Given the description of an element on the screen output the (x, y) to click on. 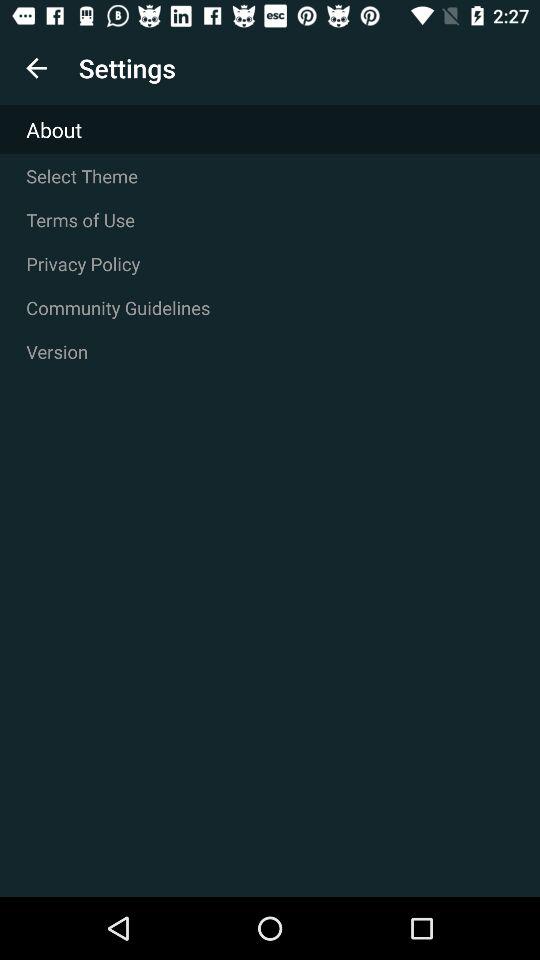
open the icon below the terms of use (270, 263)
